Given the description of an element on the screen output the (x, y) to click on. 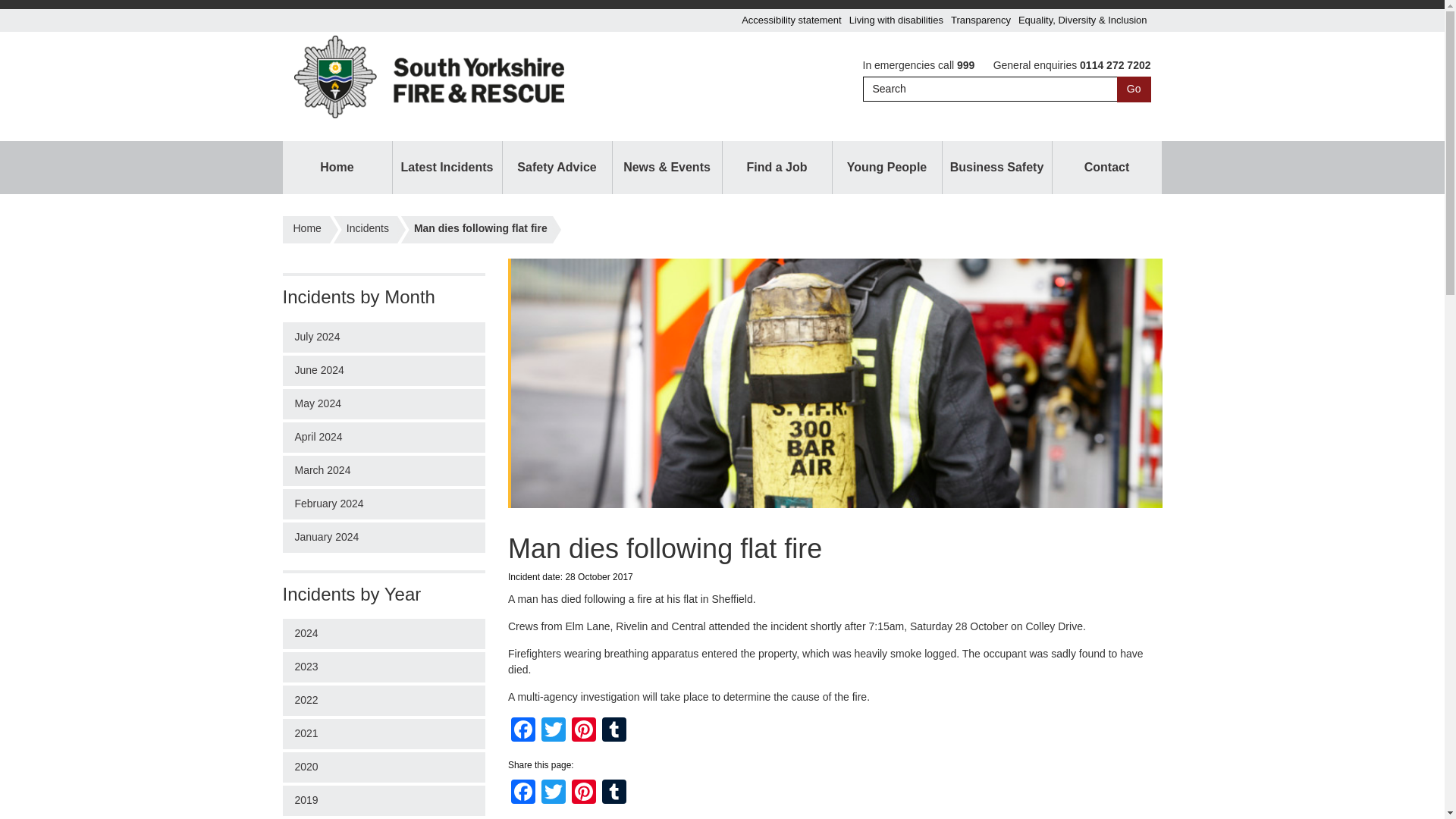
Business Safety (996, 167)
South Yorkshire Fire and Rescue (306, 234)
February 2024 (383, 503)
Safety Advice (556, 167)
Facebook (523, 731)
Business Safety (996, 167)
Young People (887, 167)
Tumblr (613, 731)
Go (1133, 89)
Contact (1106, 167)
Latest Incidents (447, 167)
2022 (383, 700)
Safety Advice (556, 167)
Facebook (523, 731)
2024 (383, 634)
